Given the description of an element on the screen output the (x, y) to click on. 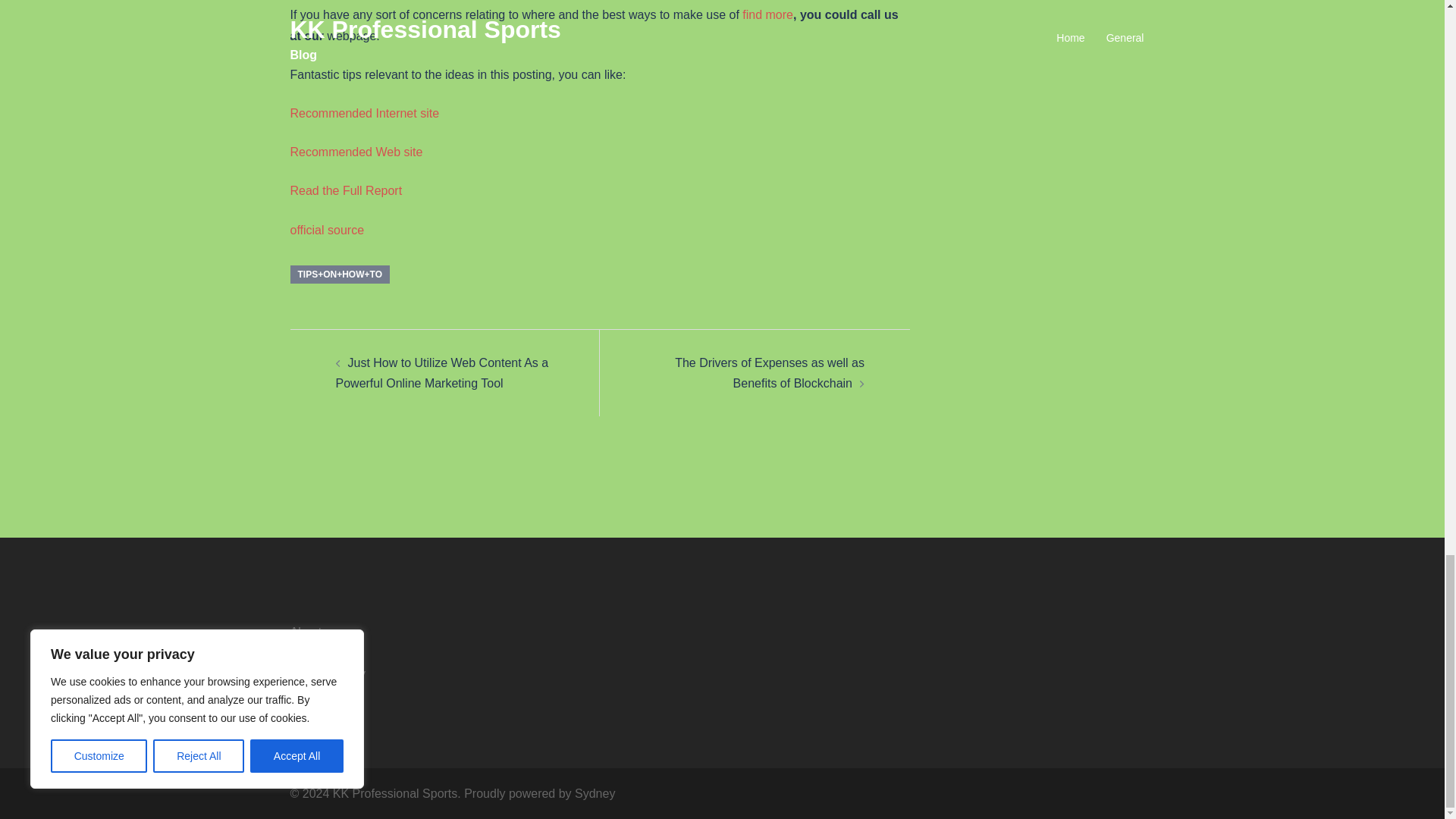
Read the Full Report (345, 190)
official source (326, 229)
find more (767, 14)
Recommended Web site (355, 151)
The Drivers of Expenses as well as Benefits of Blockchain (769, 372)
Recommended Internet site (364, 113)
